Given the description of an element on the screen output the (x, y) to click on. 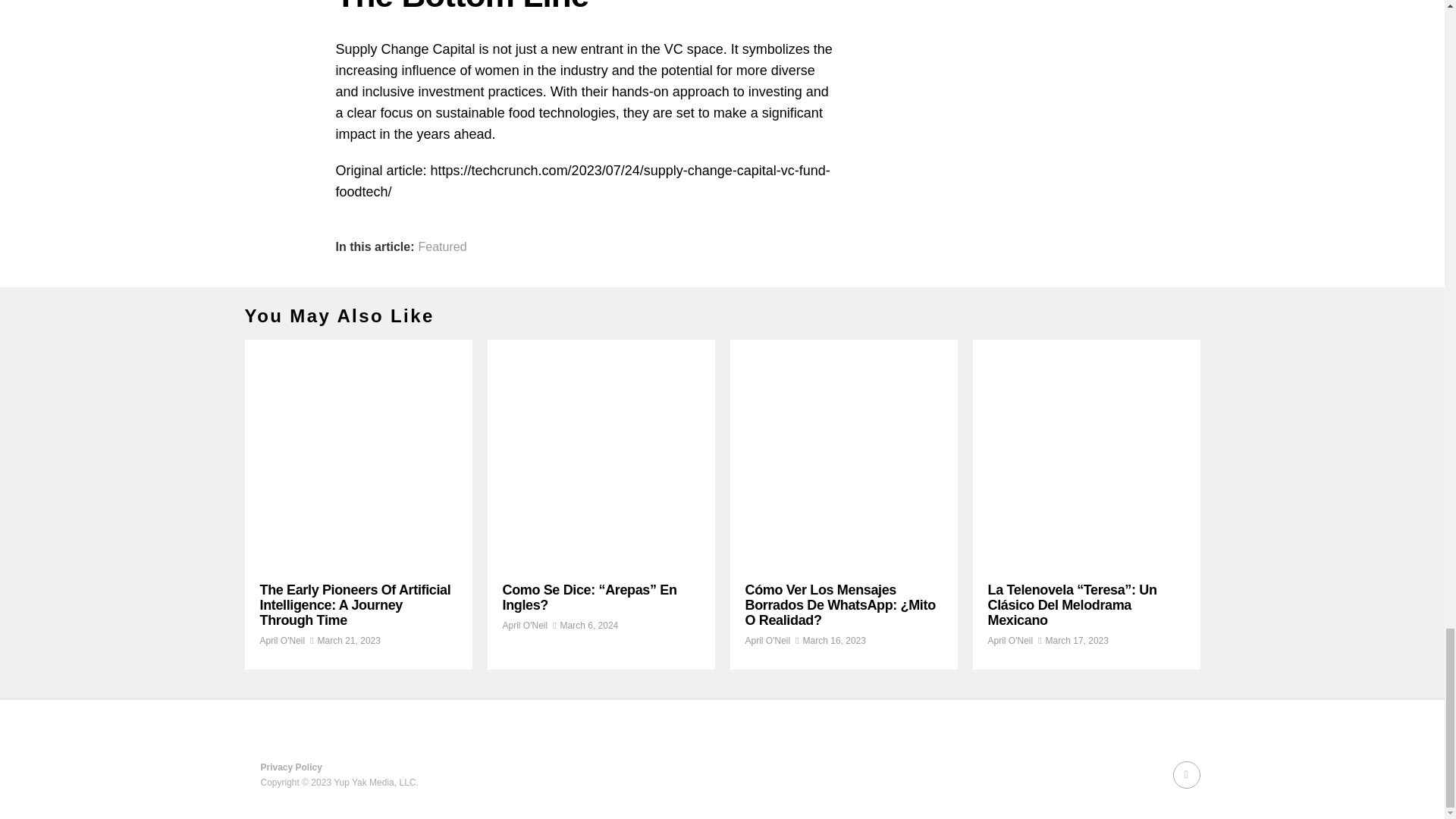
Posts by April O'Neil (281, 640)
Posts by April O'Neil (767, 640)
Posts by April O'Neil (1009, 640)
Posts by April O'Neil (524, 624)
